Given the description of an element on the screen output the (x, y) to click on. 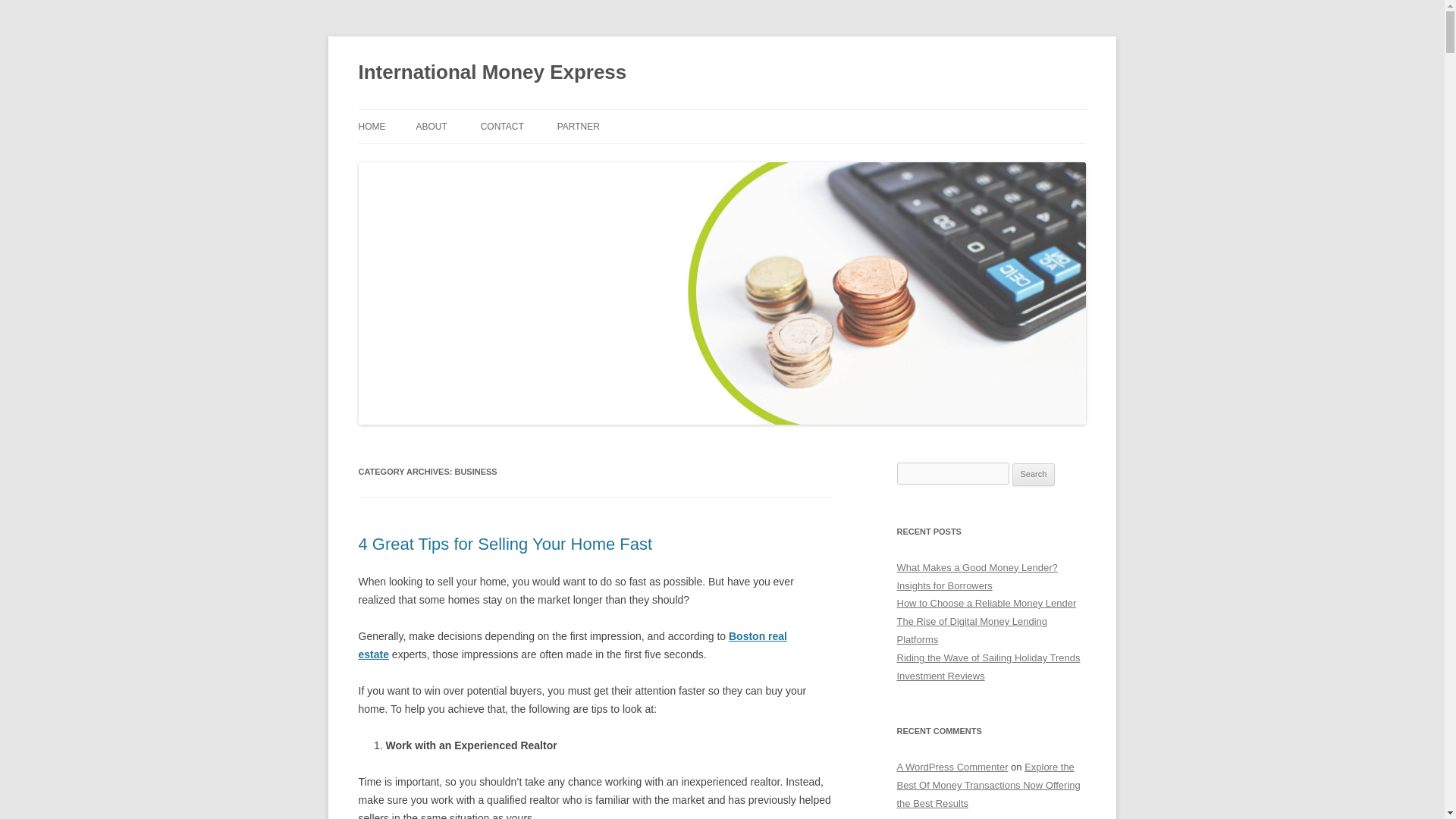
PARTNER (578, 126)
CONTACT (502, 126)
International Money Express (492, 72)
Boston real estate (572, 644)
Search (1033, 474)
ABOUT (430, 126)
4 Great Tips for Selling Your Home Fast (505, 543)
